Given the description of an element on the screen output the (x, y) to click on. 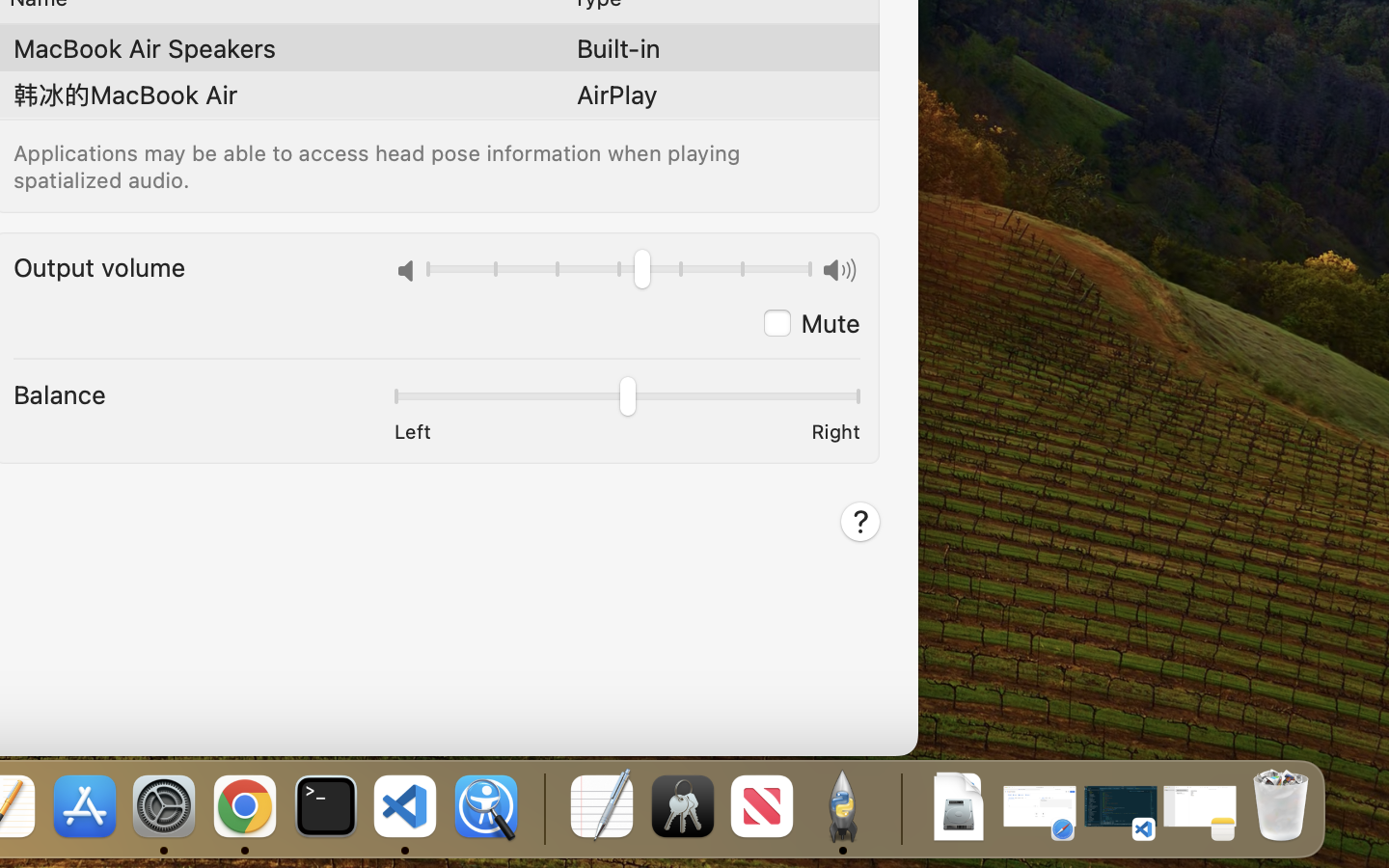
Applications may be able to access head pose information when playing spatialized audio. Element type: AXStaticText (379, 165)
0.5625 Element type: AXSlider (619, 271)
0.4285714328289032 Element type: AXDockItem (541, 807)
韩冰的MacBook Air Element type: AXStaticText (125, 94)
Built-in Element type: AXStaticText (617, 47)
